Given the description of an element on the screen output the (x, y) to click on. 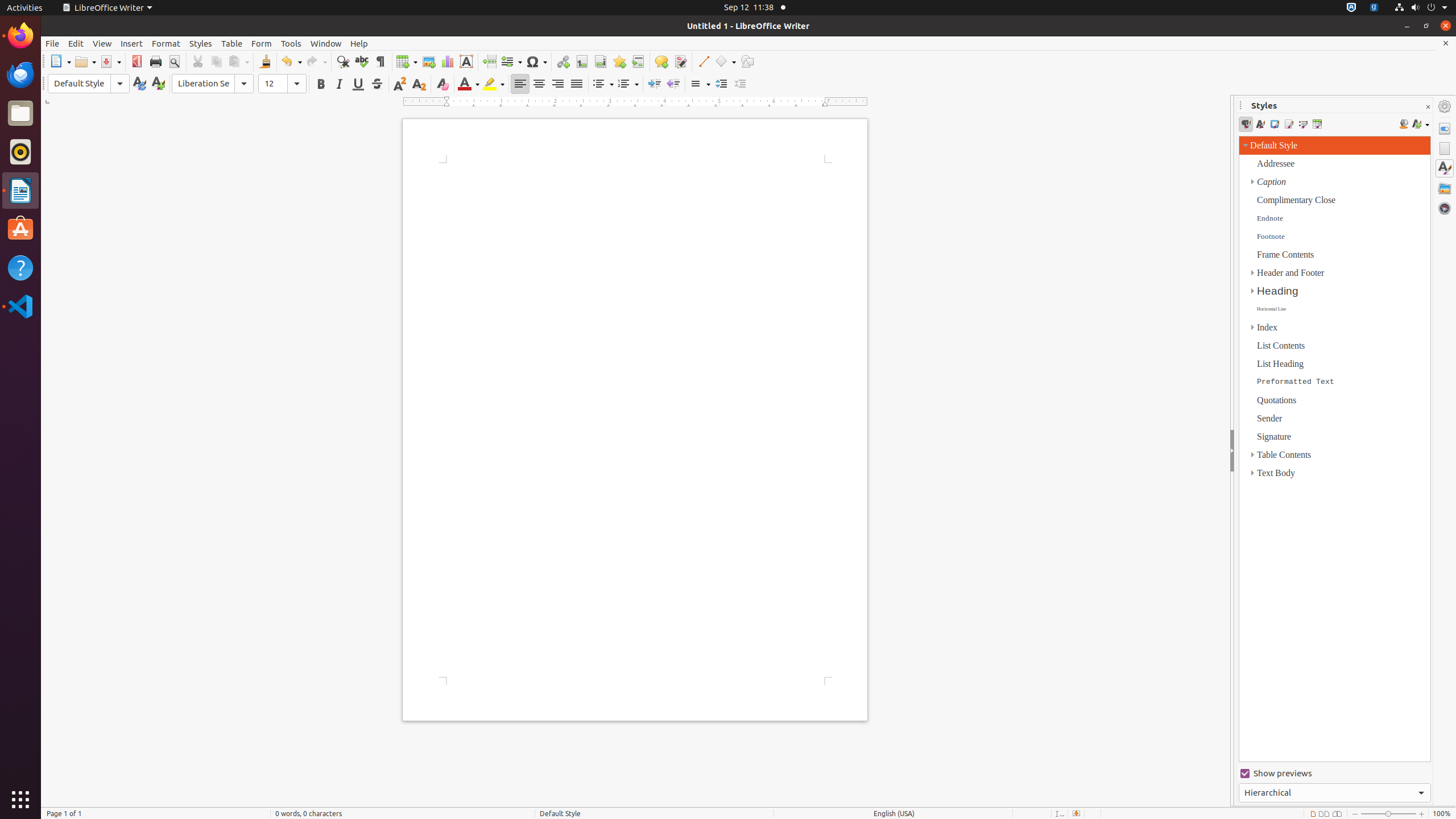
Decrease Element type: push-button (739, 83)
Left Element type: toggle-button (519, 83)
Clone Element type: push-button (264, 61)
Open Element type: push-button (84, 61)
Properties Element type: radio-button (1444, 128)
